Given the description of an element on the screen output the (x, y) to click on. 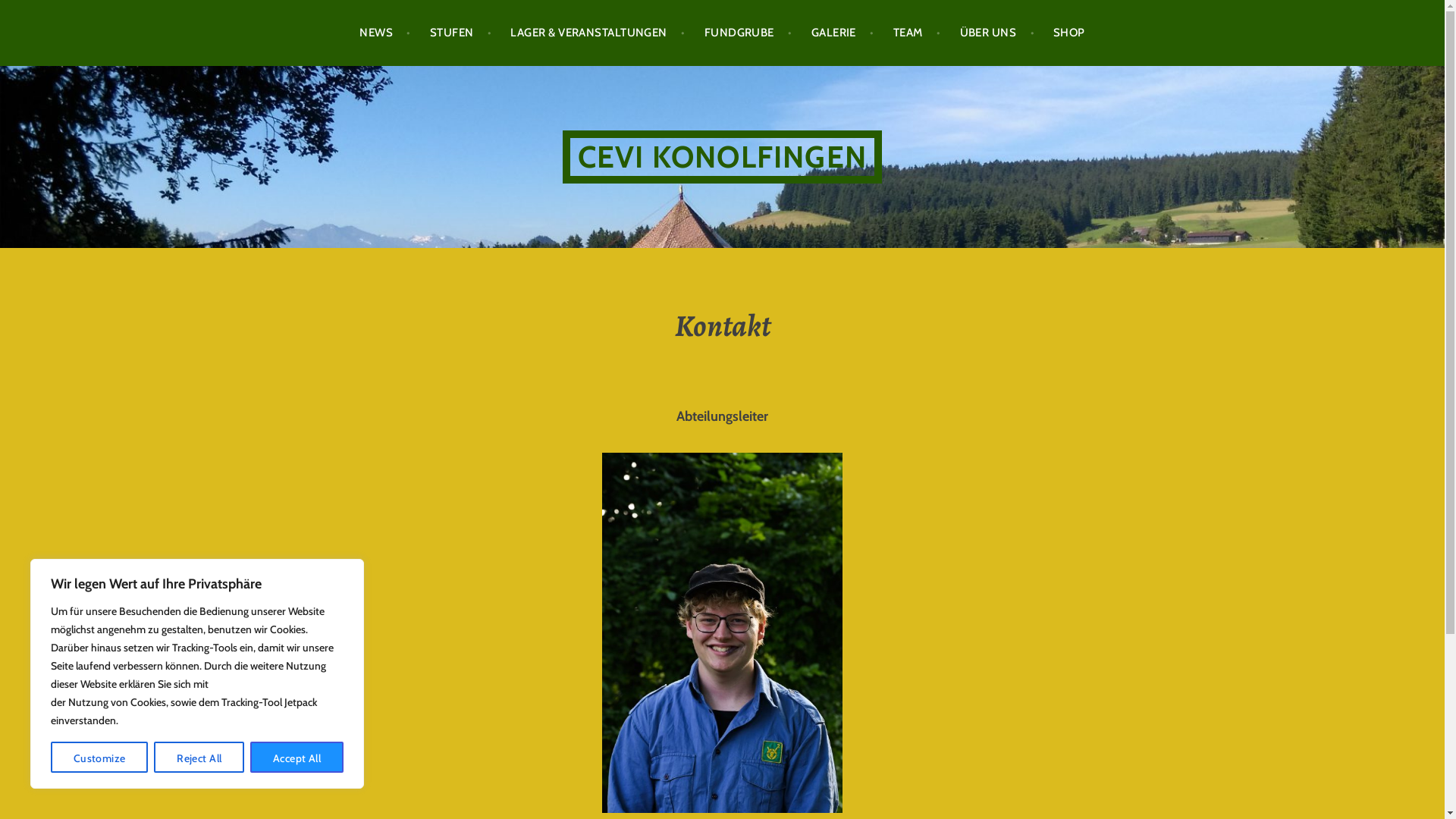
Reject All Element type: text (198, 756)
Accept All Element type: text (296, 756)
Customize Element type: text (98, 756)
TEAM Element type: text (917, 32)
STUFEN Element type: text (460, 32)
GALERIE Element type: text (842, 32)
CEVI KONOLFINGEN Element type: text (721, 156)
NEWS Element type: text (385, 32)
FUNDGRUBE Element type: text (748, 32)
SHOP Element type: text (1069, 32)
LAGER & VERANSTALTUNGEN Element type: text (597, 32)
